Given the description of an element on the screen output the (x, y) to click on. 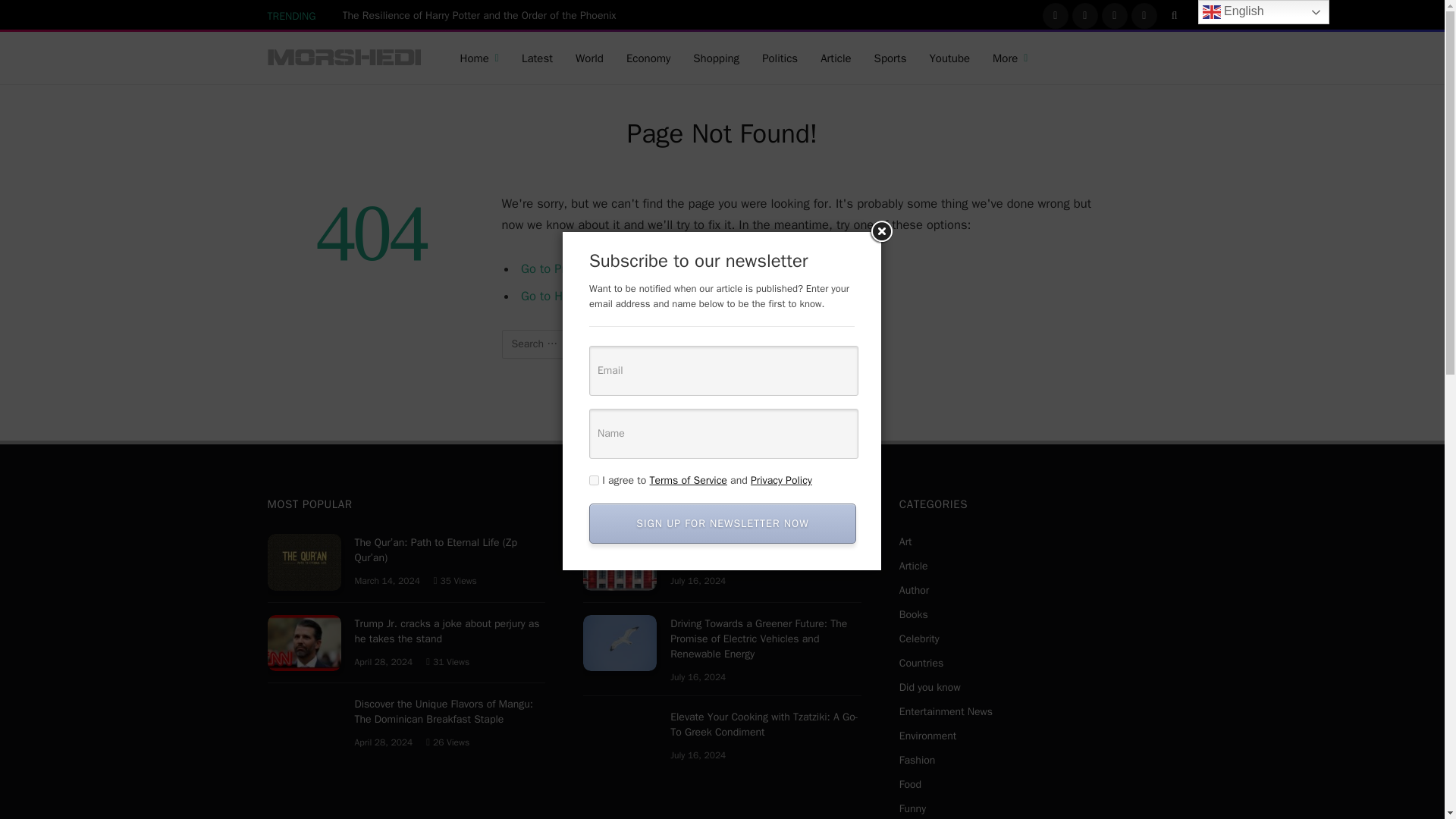
Email (724, 370)
More (1010, 57)
Facebook (1055, 15)
Trump Jr. cracks a joke about perjury as he takes the stand (303, 643)
MORSHEDI (344, 57)
Sports (890, 57)
The Resilience of Harry Potter and the Order of the Phoenix (483, 15)
31 Article Views (447, 662)
Home (479, 57)
Article (835, 57)
Latest (537, 57)
Search (833, 344)
Fantastic Beasts and Where to Find Them in Inca Mythology (619, 561)
26 Article Views (447, 742)
1 (593, 480)
